Given the description of an element on the screen output the (x, y) to click on. 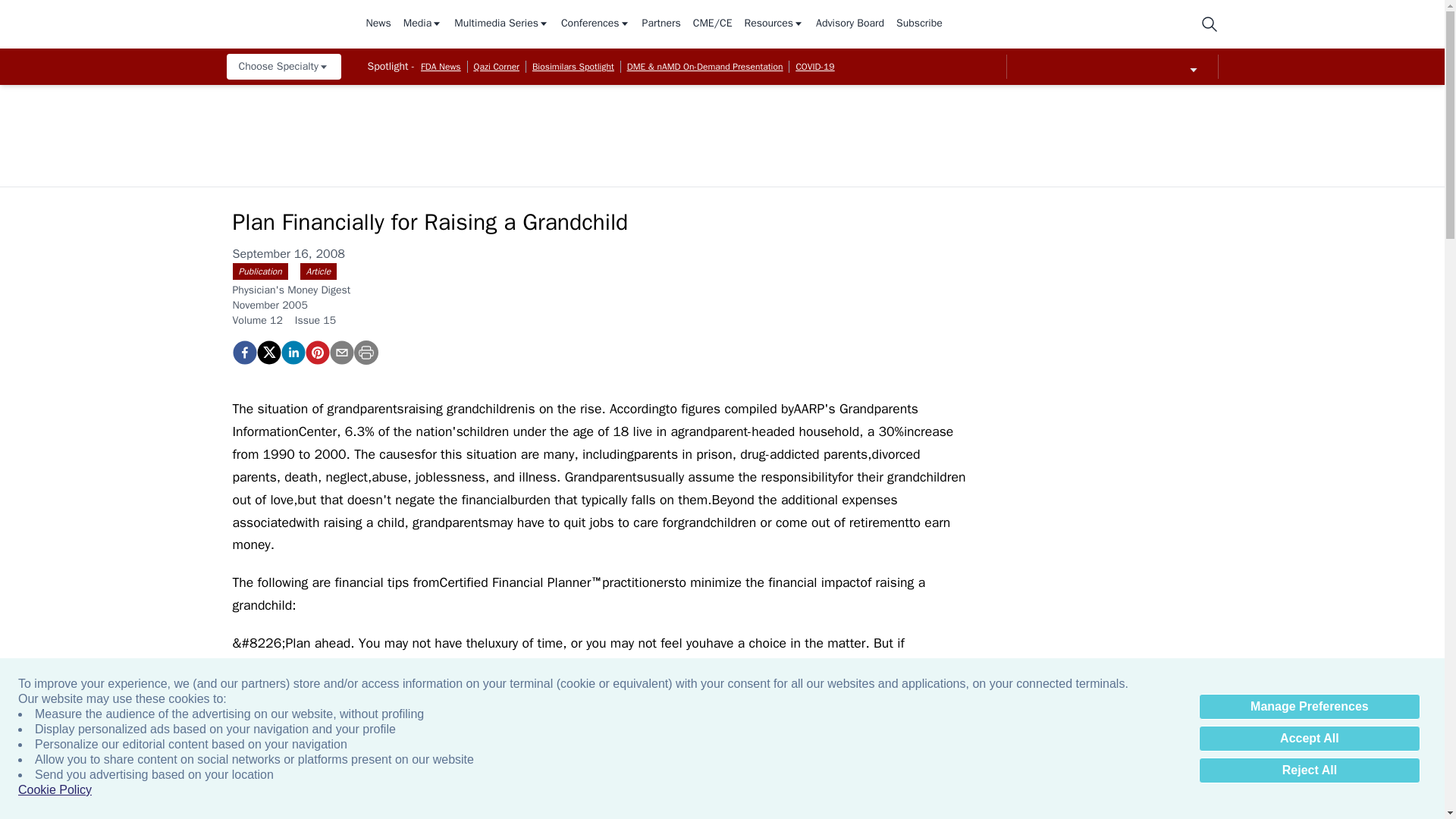
Accept All (1309, 738)
Plan Financially for Raising a Grandchild (243, 352)
Subscribe (919, 23)
Conferences (595, 23)
Advisory Board (849, 23)
Manage Preferences (1309, 706)
Plan Financially for Raising a Grandchild (316, 352)
Choose Specialty (282, 66)
Multimedia Series (501, 23)
Reject All (1309, 769)
Resources (773, 23)
News (377, 23)
Cookie Policy (54, 789)
Media (422, 23)
Partners (661, 23)
